Given the description of an element on the screen output the (x, y) to click on. 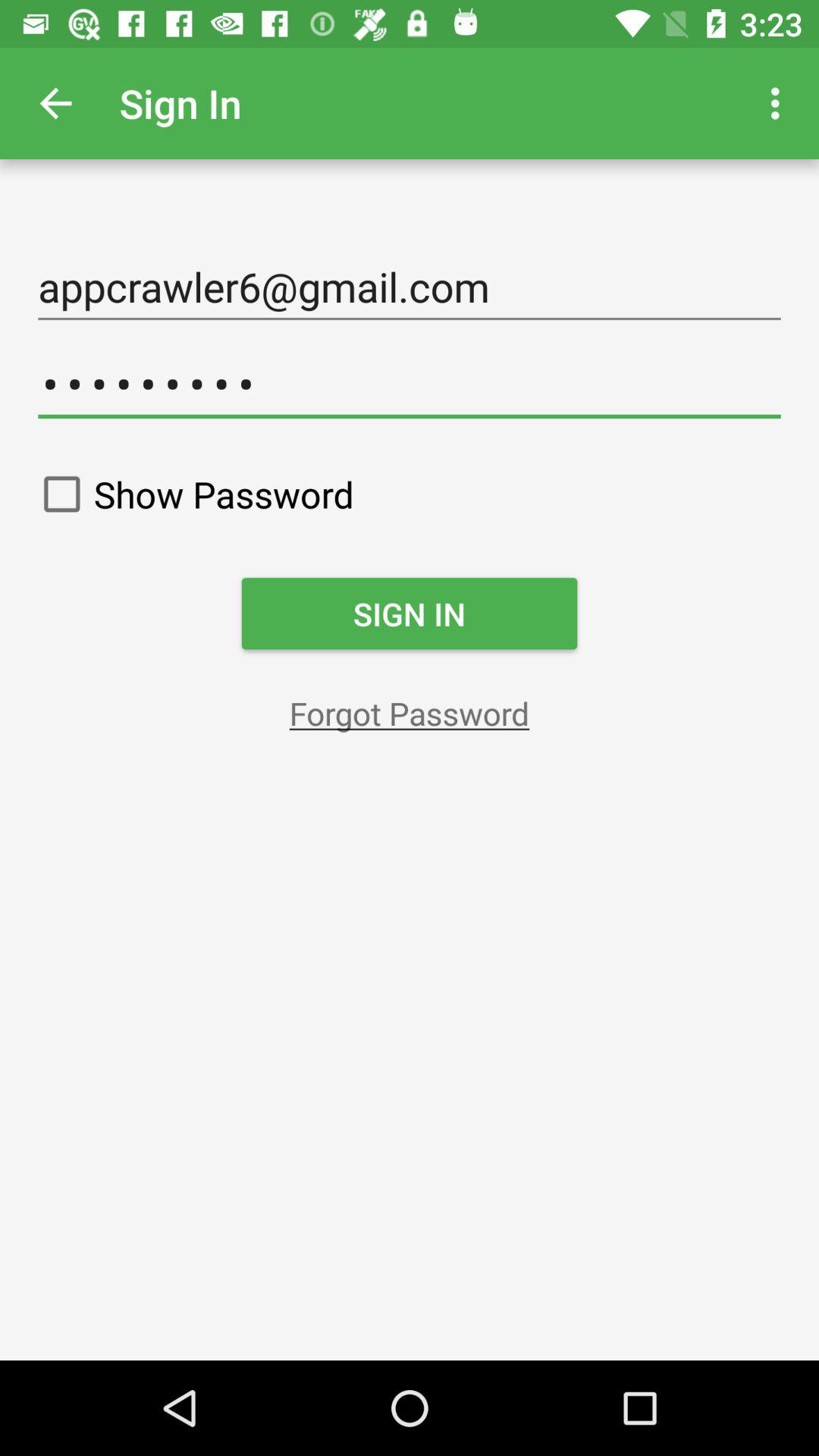
select show password on the left (191, 494)
